Given the description of an element on the screen output the (x, y) to click on. 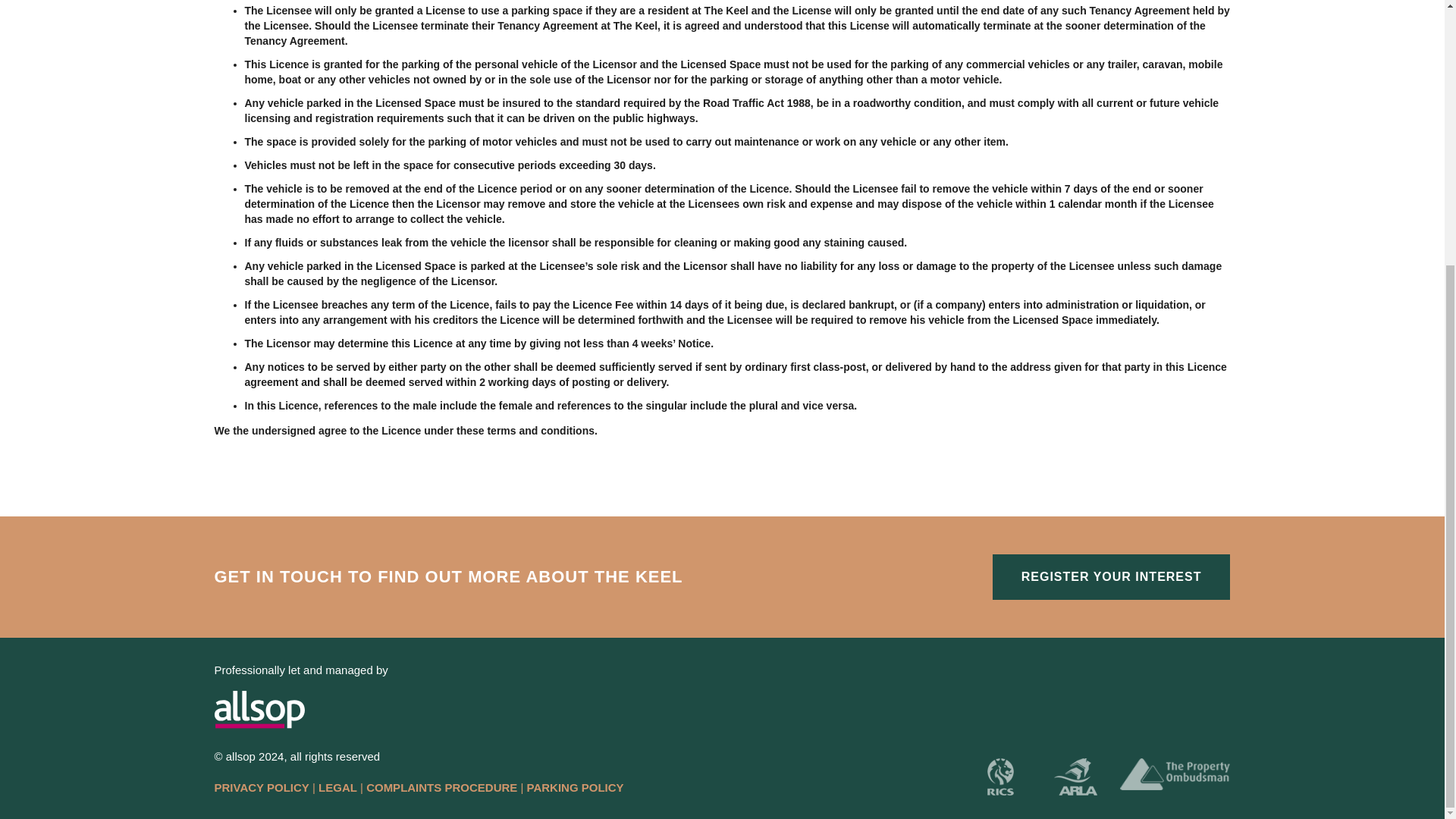
COMPLAINTS PROCEDURE (441, 787)
REGISTER YOUR INTEREST (1111, 576)
PARKING POLICY (575, 787)
PRIVACY POLICY (261, 787)
LEGAL (337, 787)
